Given the description of an element on the screen output the (x, y) to click on. 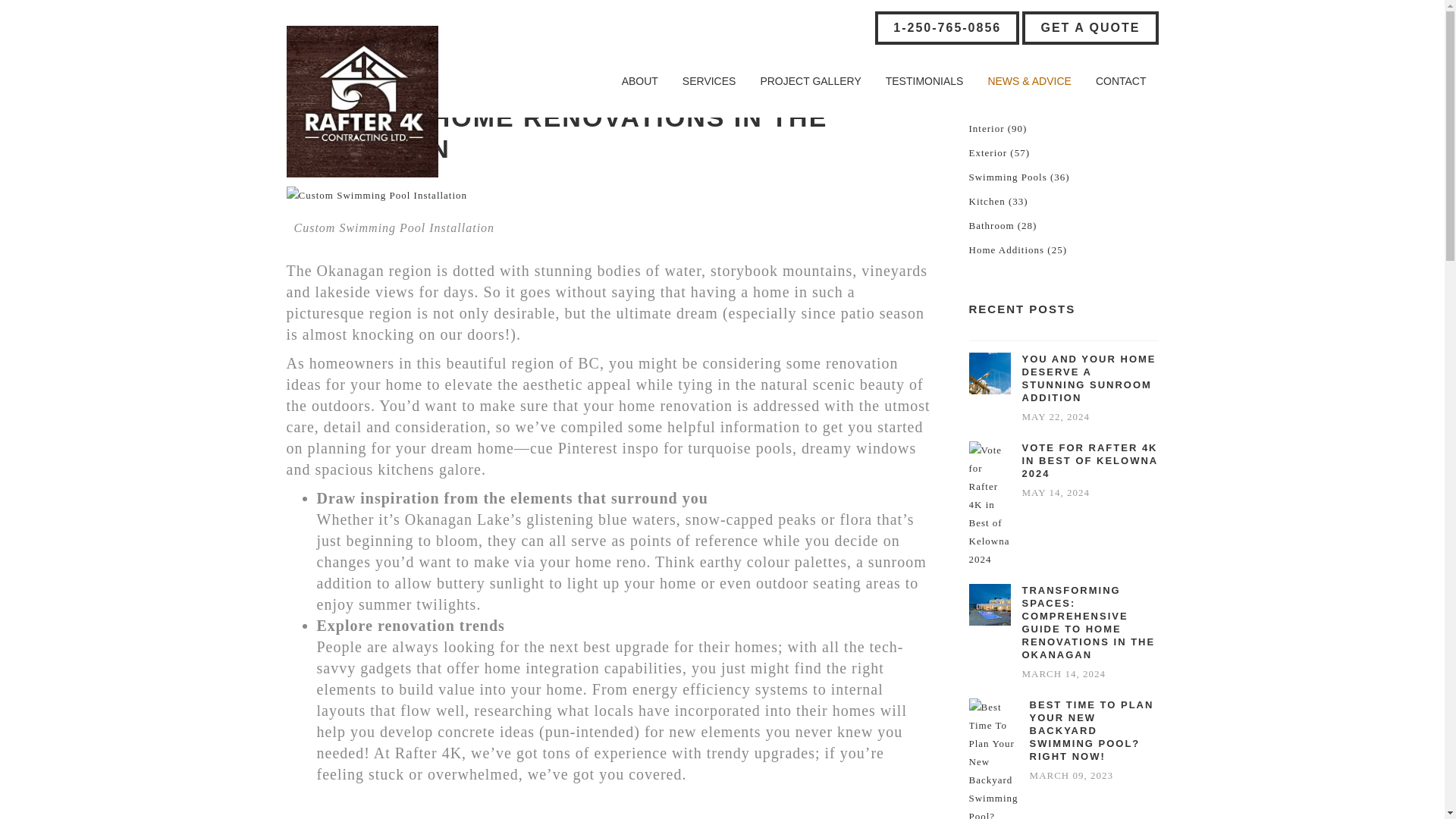
GET A QUOTE (1089, 28)
1-250-765-0856 (947, 28)
SERVICES (708, 81)
Interior (986, 128)
Home Additions (1007, 250)
PROJECT GALLERY (810, 81)
Swimming Pools (1007, 177)
Kitchen (987, 201)
